Given the description of an element on the screen output the (x, y) to click on. 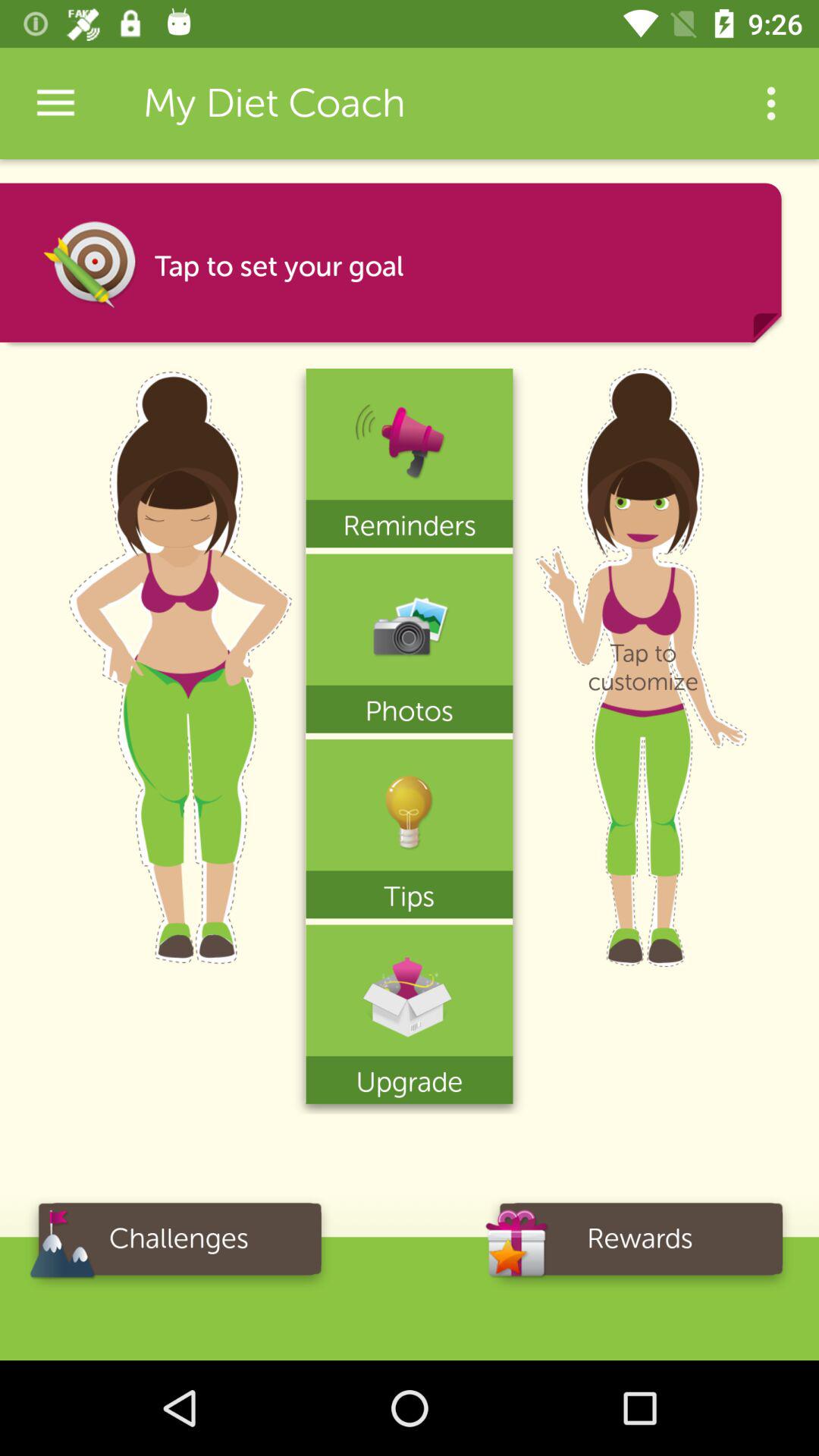
turn on the item next to the challenges (639, 1243)
